Given the description of an element on the screen output the (x, y) to click on. 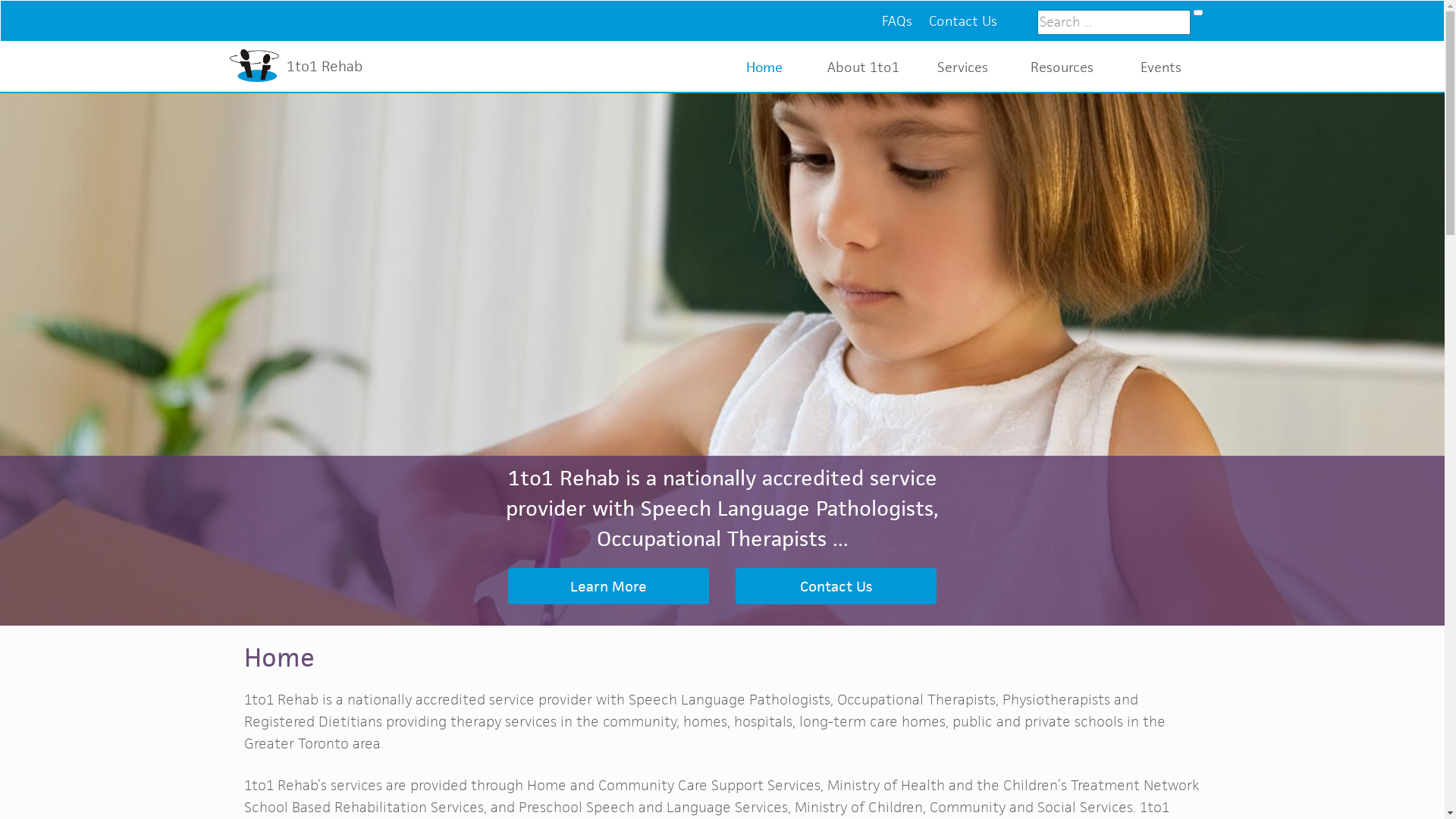
Contact Us Element type: text (835, 585)
Search Element type: text (1197, 12)
Services Element type: text (962, 67)
Events Element type: text (1160, 67)
Twitter Element type: text (1018, 13)
Contact Us Element type: text (962, 20)
Home Element type: text (764, 67)
Resources Element type: text (1061, 67)
FAQs Element type: text (896, 20)
1to1 Rehab Element type: text (299, 65)
Skip to content Element type: text (0, 0)
About 1to1 Element type: text (863, 67)
Learn More Element type: text (608, 585)
